Given the description of an element on the screen output the (x, y) to click on. 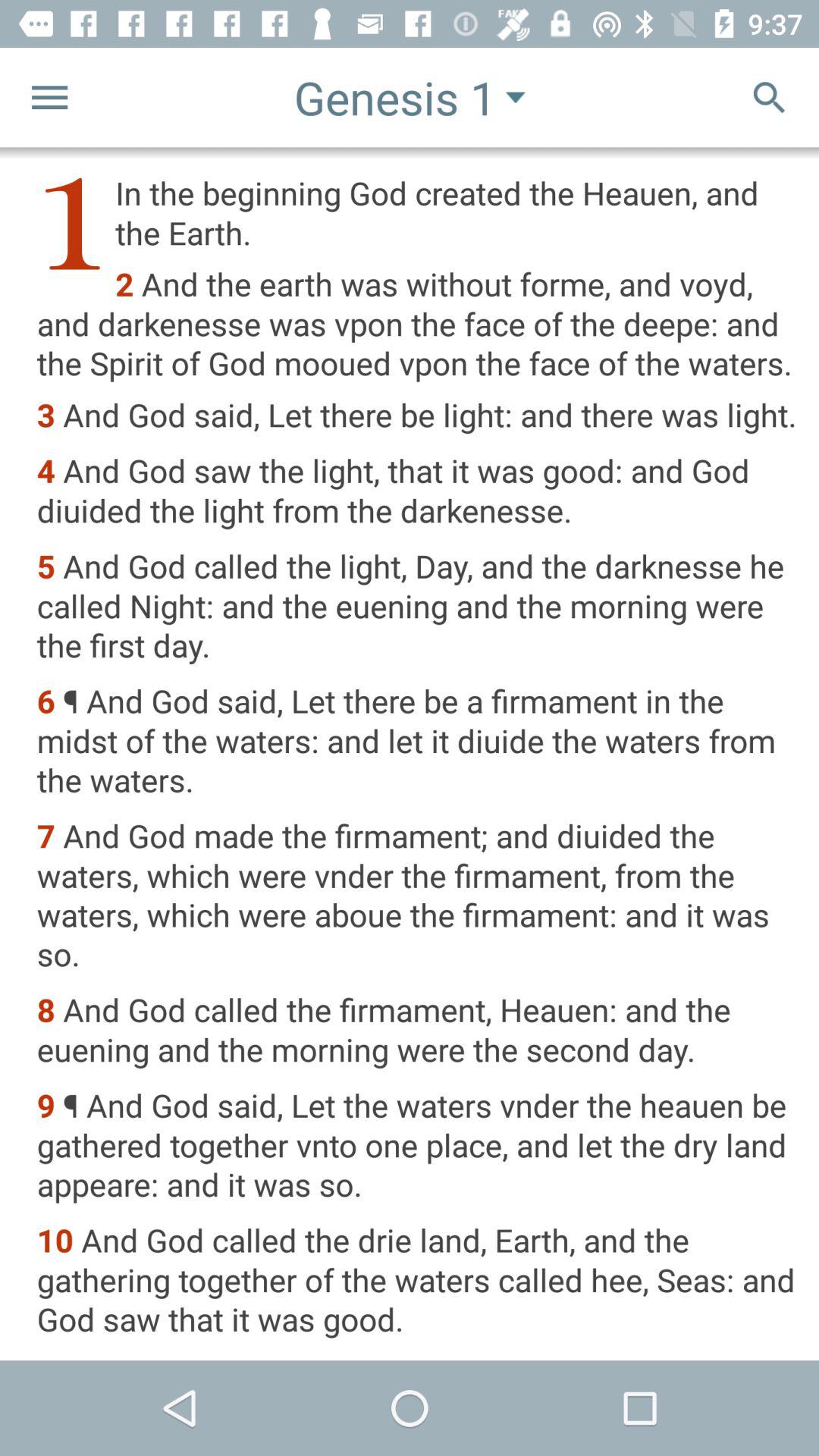
click on icon which is right to genesis 1 (515, 98)
